Given the description of an element on the screen output the (x, y) to click on. 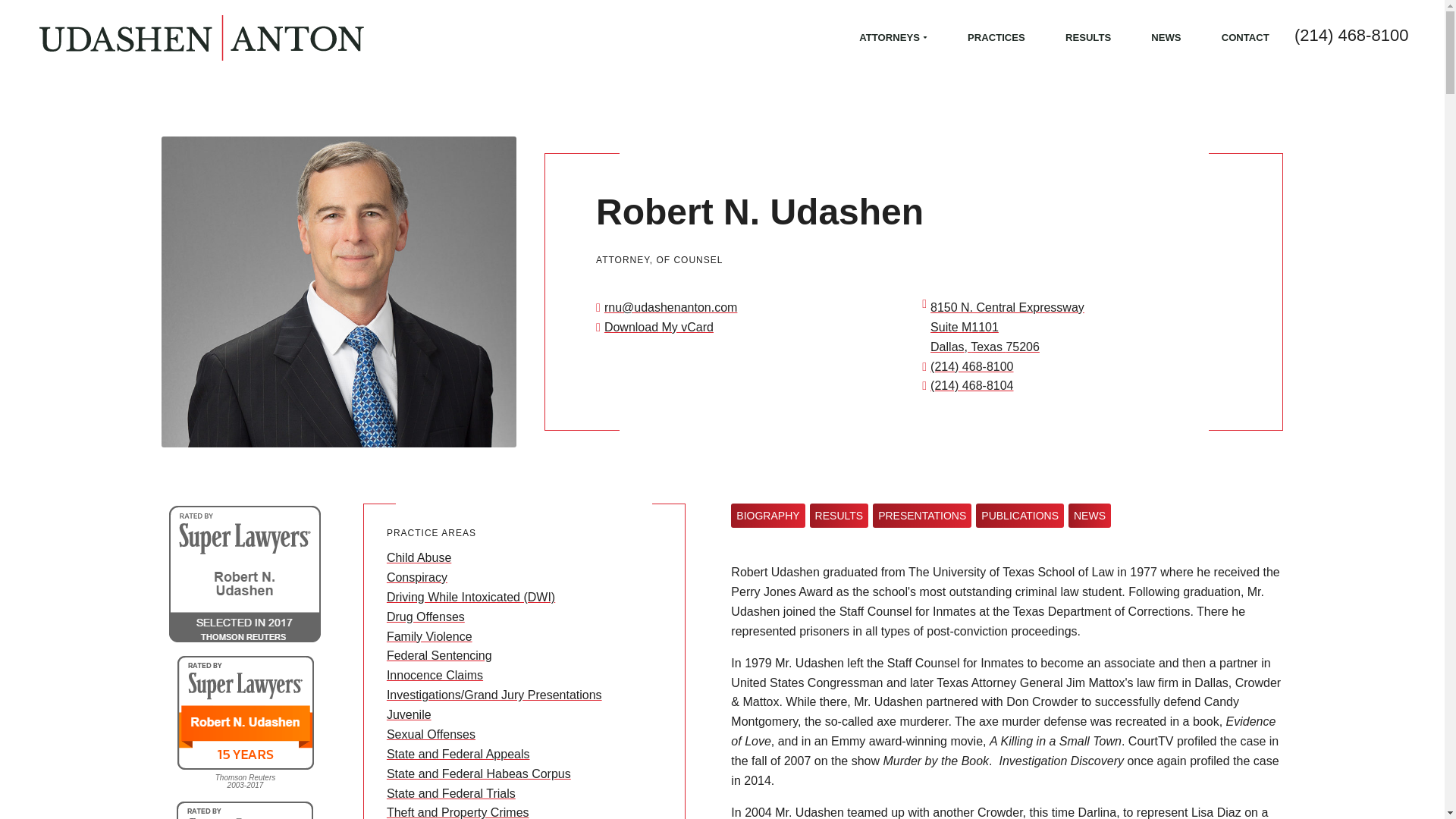
Download My vCard (654, 327)
CONTACT (1238, 37)
NEWS (1165, 37)
Juvenile (408, 714)
State and Federal Trials (451, 793)
Theft and Property Crimes (458, 812)
Download My vCard (654, 327)
Family Violence (429, 635)
State and Federal Appeals (458, 753)
Innocence Claims (435, 675)
